Given the description of an element on the screen output the (x, y) to click on. 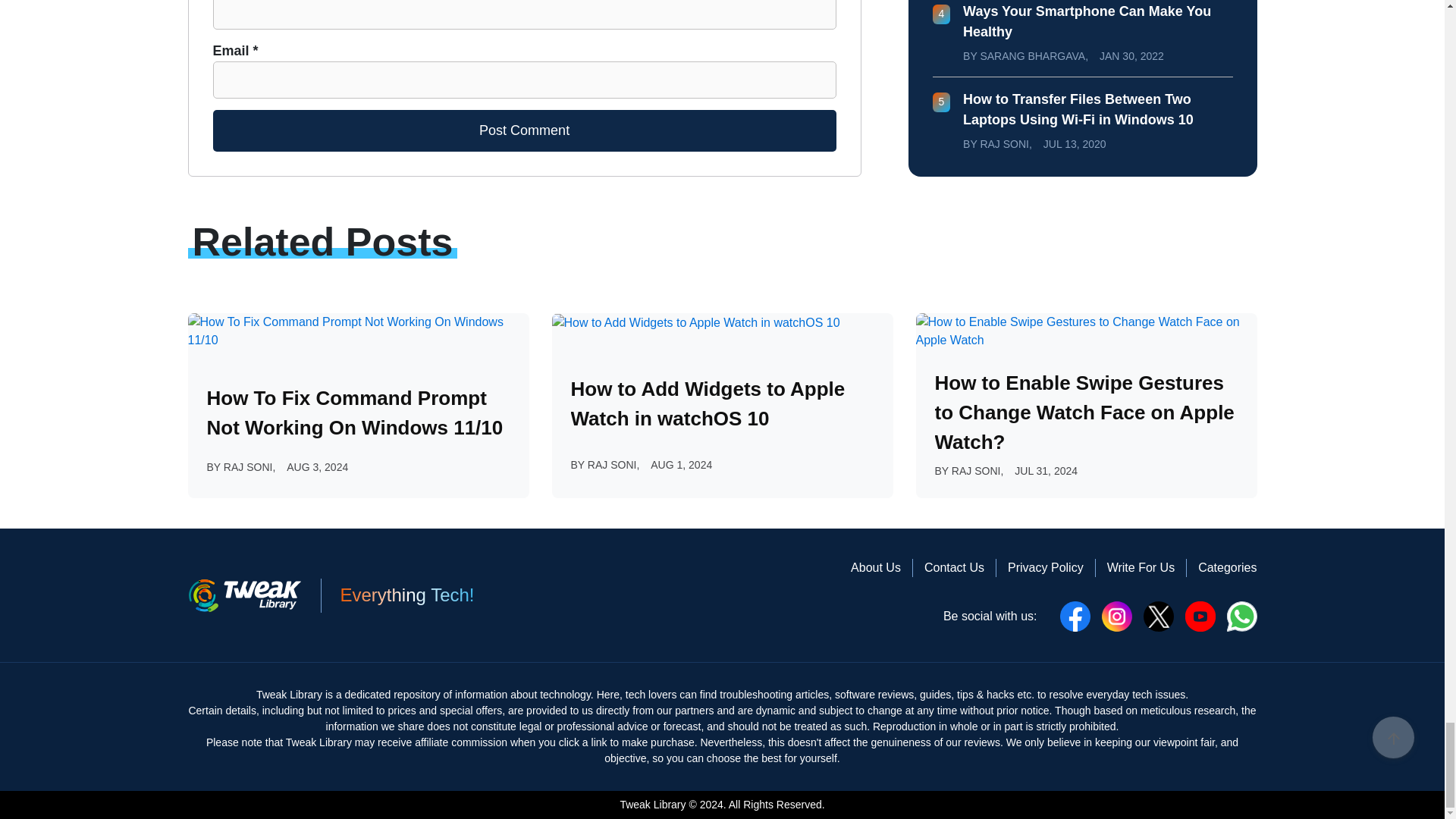
Post Comment (523, 130)
